Given the description of an element on the screen output the (x, y) to click on. 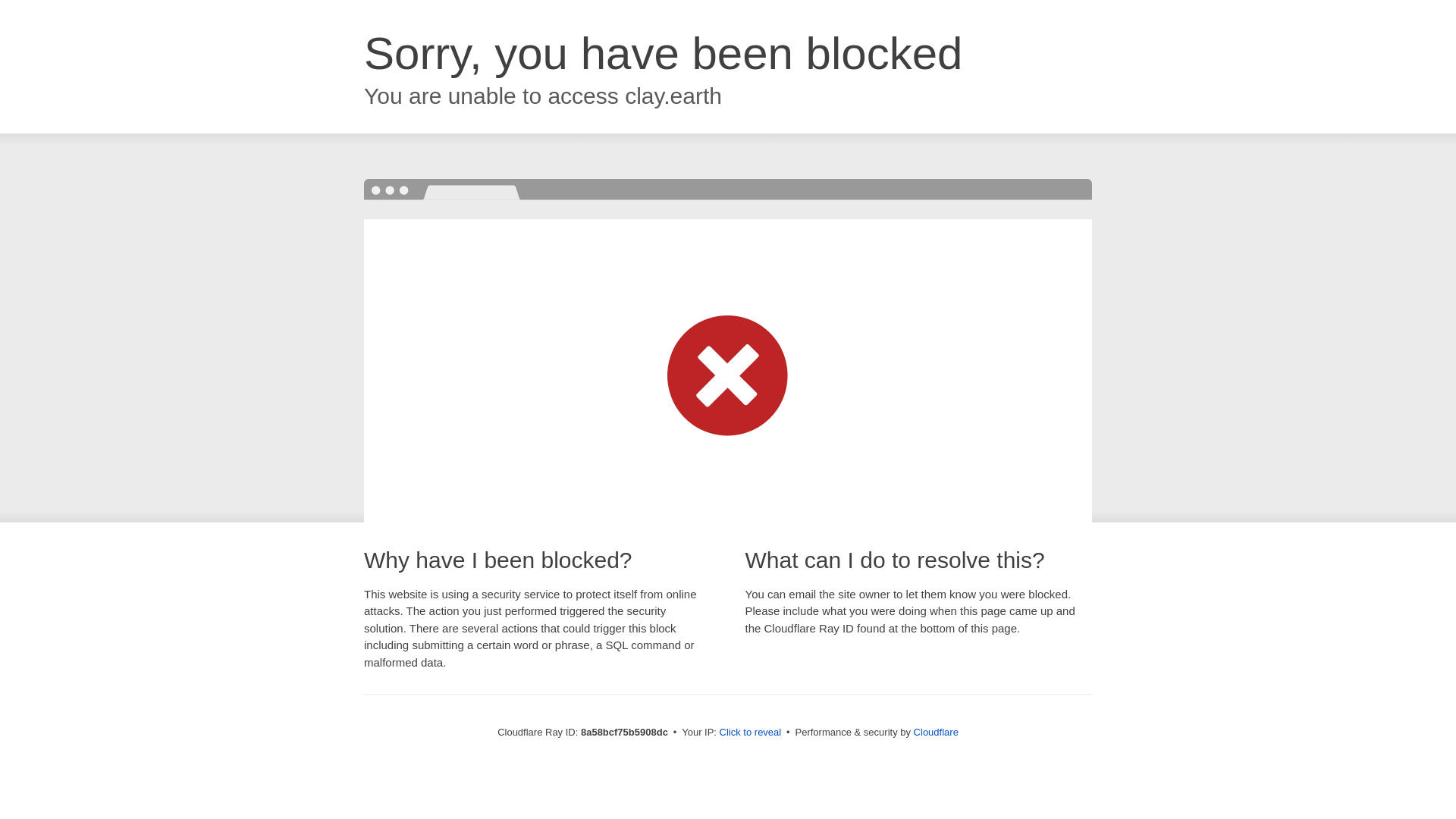
Cloudflare (936, 731)
Click to reveal (750, 732)
